Given the description of an element on the screen output the (x, y) to click on. 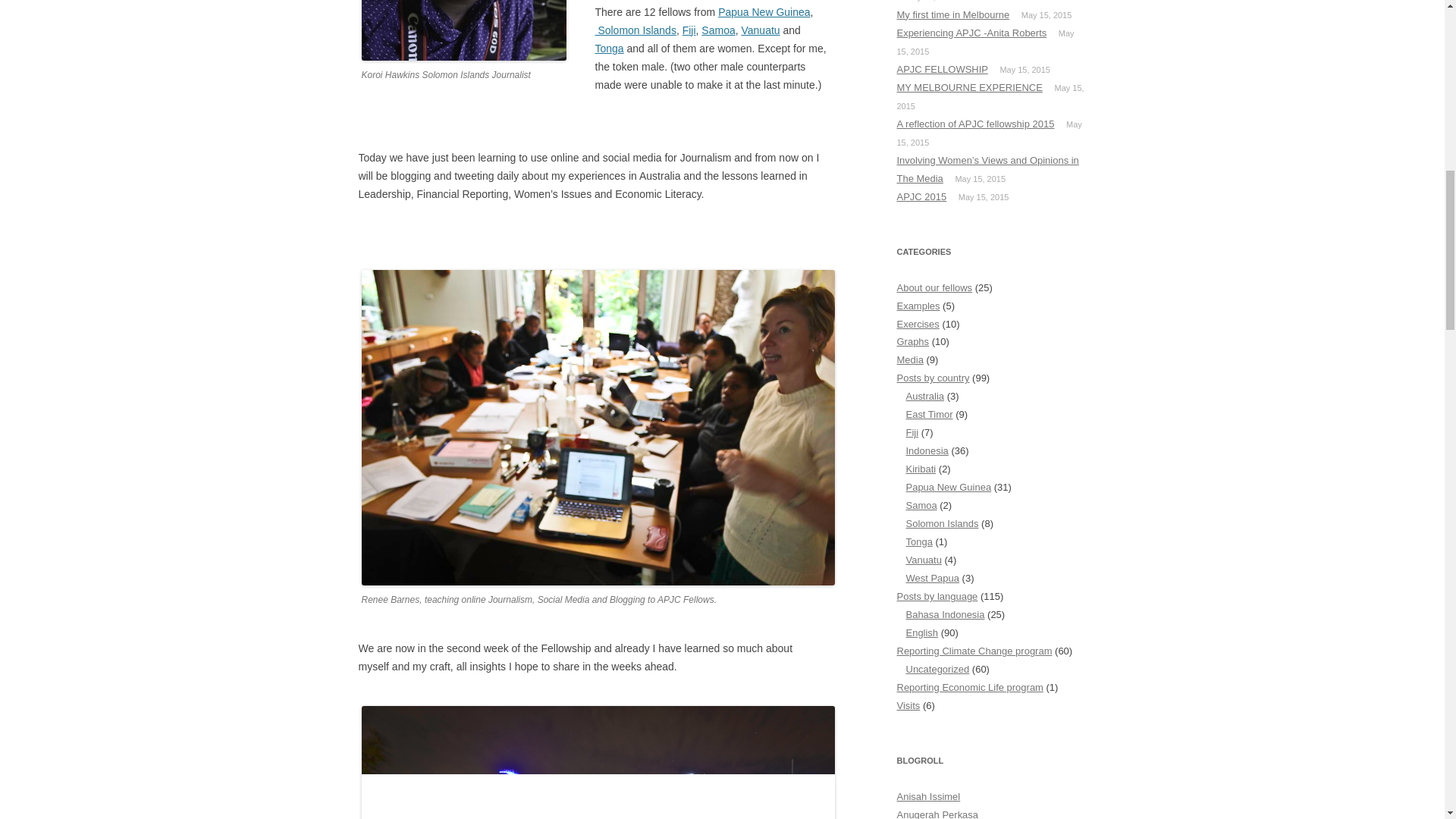
Samoa Wikipedia (718, 30)
Tonga (608, 48)
Samoa (718, 30)
 Solomon Islands (634, 30)
Papua New Guinea (763, 11)
Vanuatu (760, 30)
Fiji Wikipedia (688, 30)
Fiji (688, 30)
Vanuatu Wikipedia (760, 30)
Papua New Guinea Wikipedia (763, 11)
Tonga Wikipedia (608, 48)
